Given the description of an element on the screen output the (x, y) to click on. 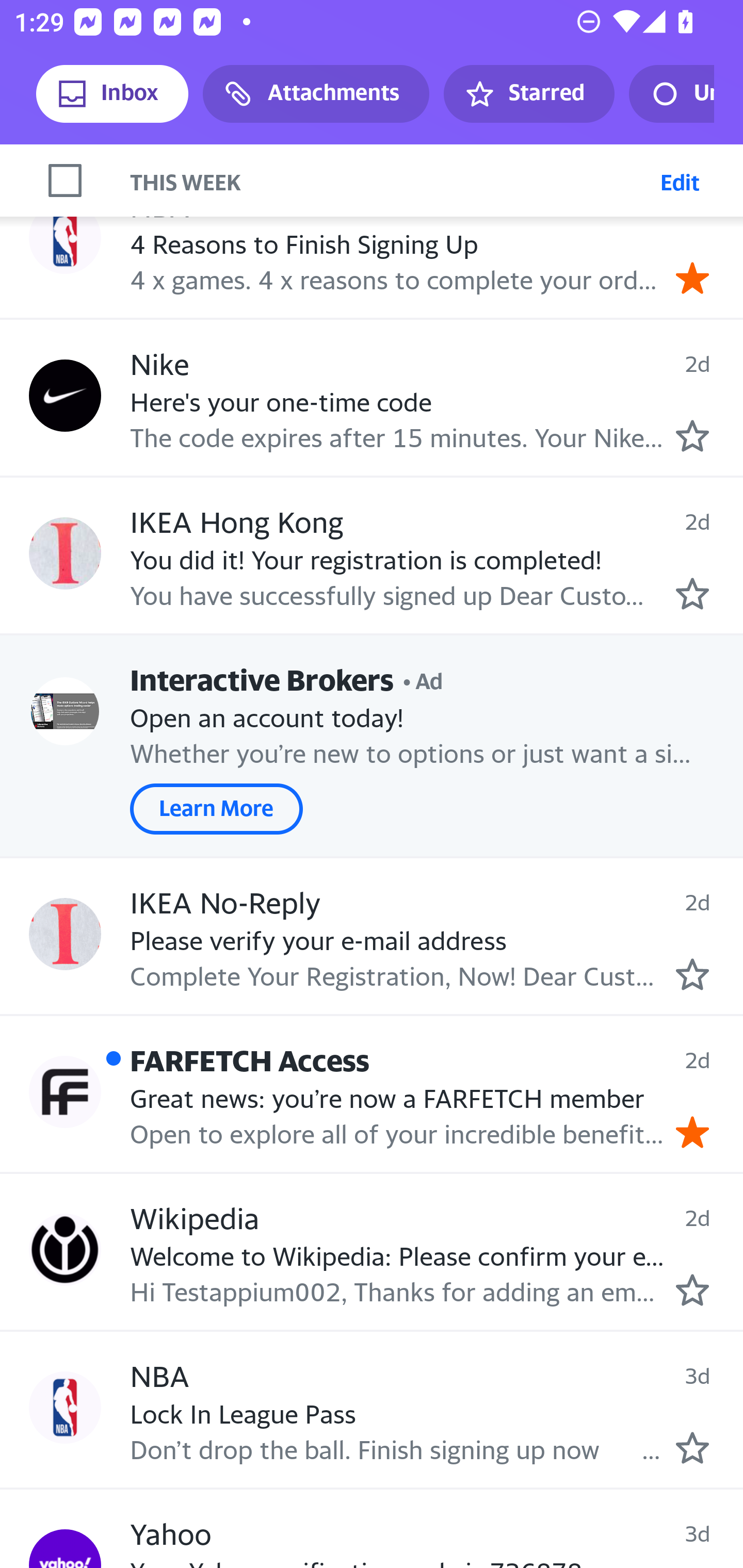
Attachments (315, 93)
Starred (528, 93)
Profile
NBA (64, 238)
Remove star. (692, 278)
Profile
Nike (64, 395)
Mark as starred. (692, 435)
Profile
IKEA Hong Kong (64, 553)
Mark as starred. (692, 593)
Profile
IKEA No-Reply (64, 934)
Mark as starred. (692, 974)
Profile
FARFETCH Access (64, 1091)
Remove star. (692, 1132)
Profile
Wikipedia (64, 1249)
Mark as starred. (692, 1289)
Profile
NBA (64, 1408)
Mark as starred. (692, 1448)
Profile
Yahoo (64, 1548)
